Given the description of an element on the screen output the (x, y) to click on. 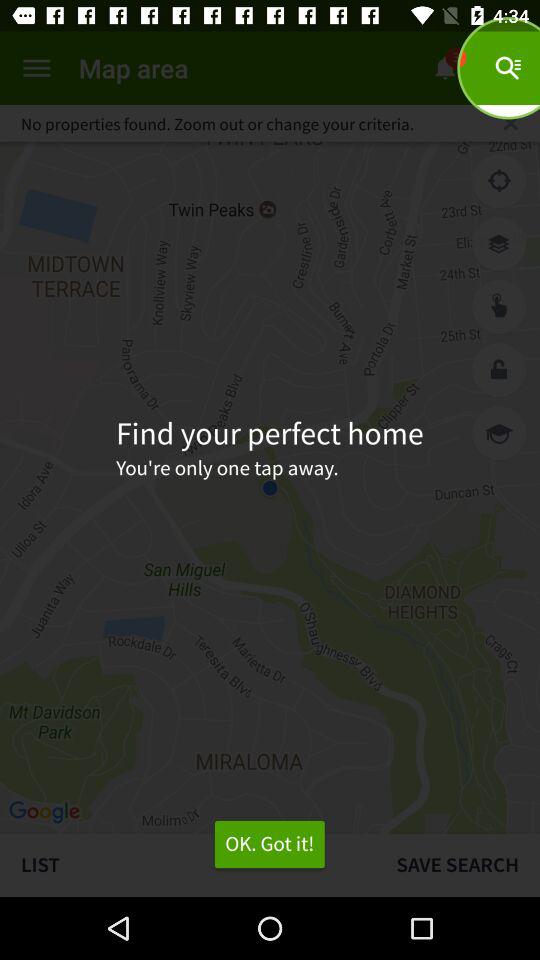
click the save search (457, 864)
